Given the description of an element on the screen output the (x, y) to click on. 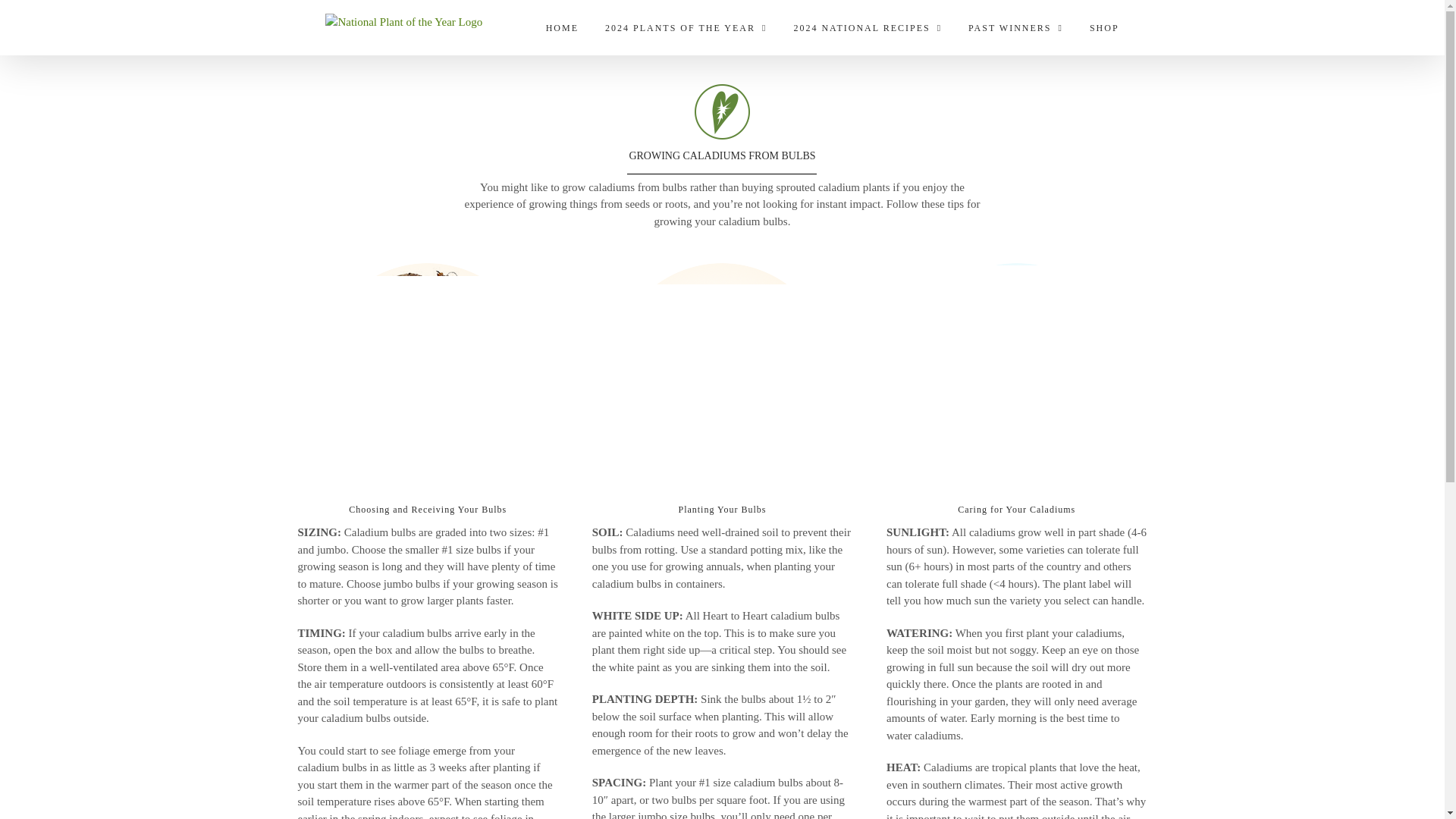
2024 NATIONAL RECIPES (867, 27)
caladium-icon (722, 111)
PAST WINNERS (1015, 27)
2024 PLANTS OF THE YEAR (686, 27)
HOME (562, 27)
